Given the description of an element on the screen output the (x, y) to click on. 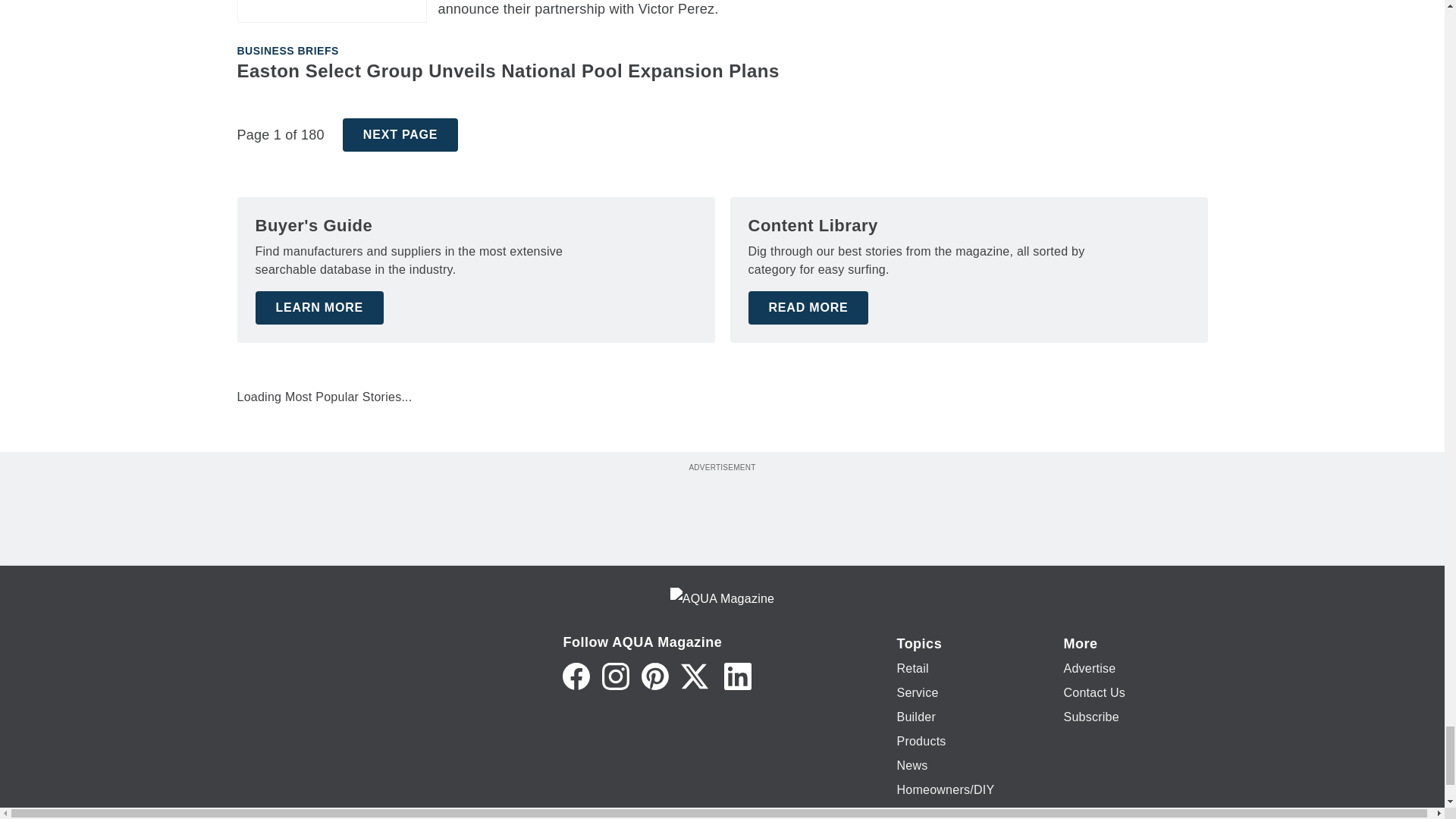
Facebook icon (575, 676)
Instagram icon (615, 676)
Twitter X icon (694, 676)
Pinterest icon (655, 676)
LinkedIn icon (737, 676)
